Given the description of an element on the screen output the (x, y) to click on. 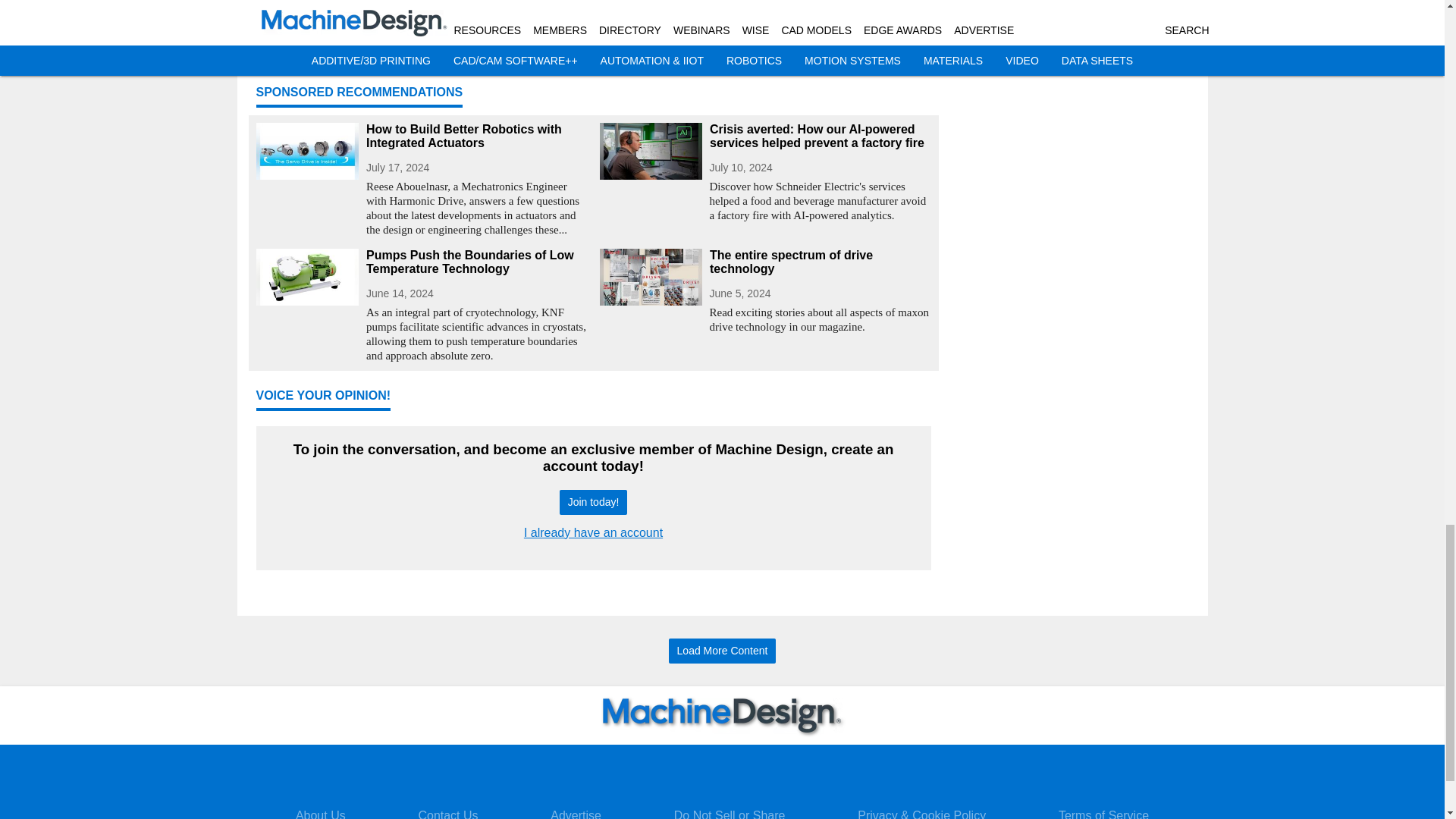
Pumps Push the Boundaries of Low Temperature Technology (476, 262)
Join today! (593, 502)
Power and efficiency drive motor selection (764, 39)
The entire spectrum of drive technology (820, 262)
How to Build Better Robotics with Integrated Actuators (476, 135)
